Given the description of an element on the screen output the (x, y) to click on. 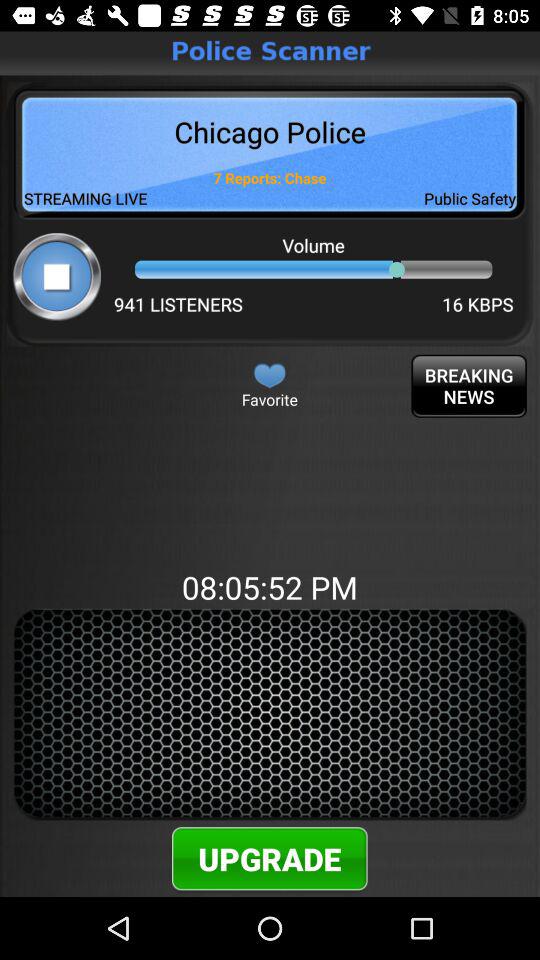
stop (56, 276)
